Given the description of an element on the screen output the (x, y) to click on. 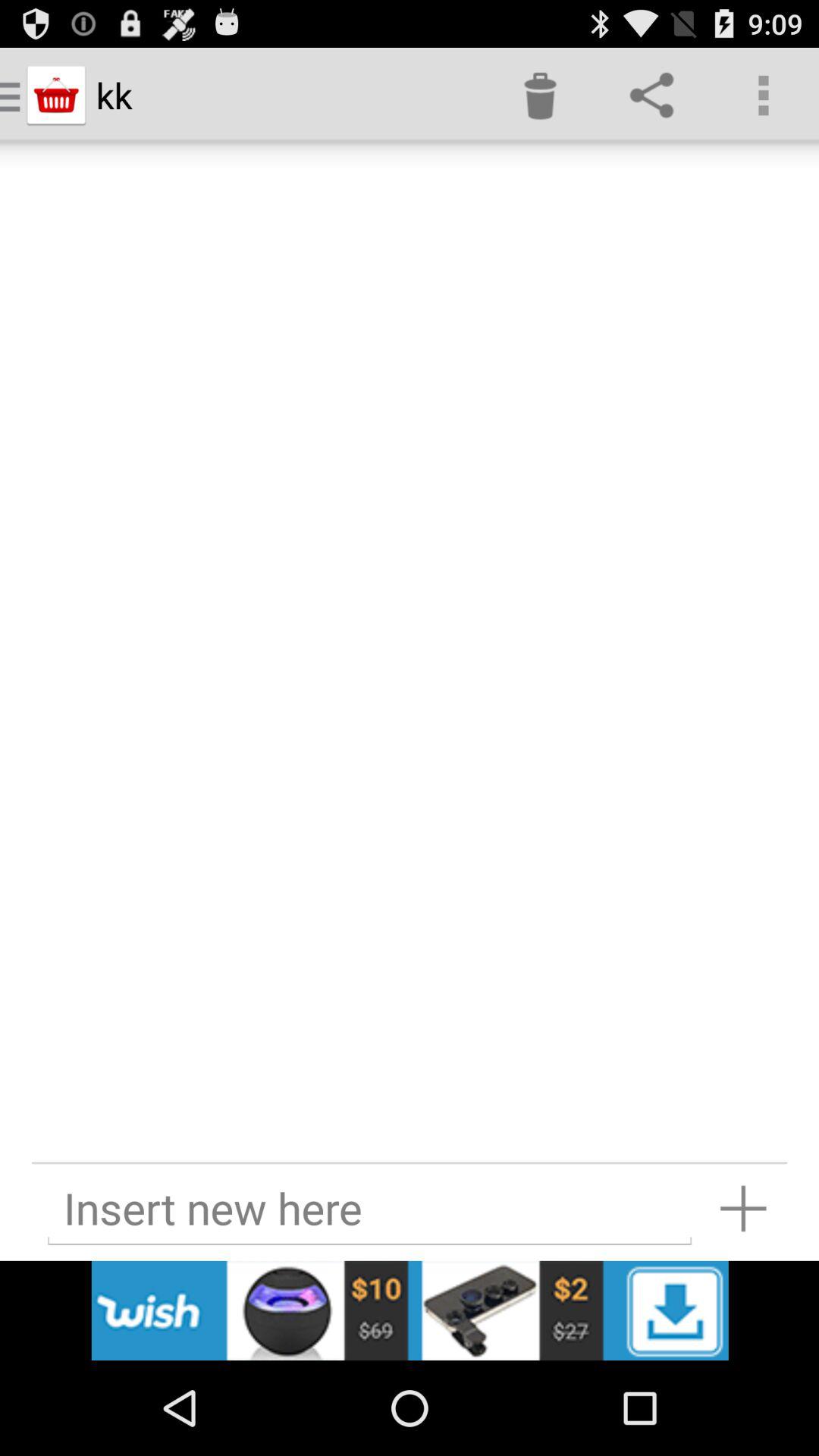
more (743, 1208)
